Given the description of an element on the screen output the (x, y) to click on. 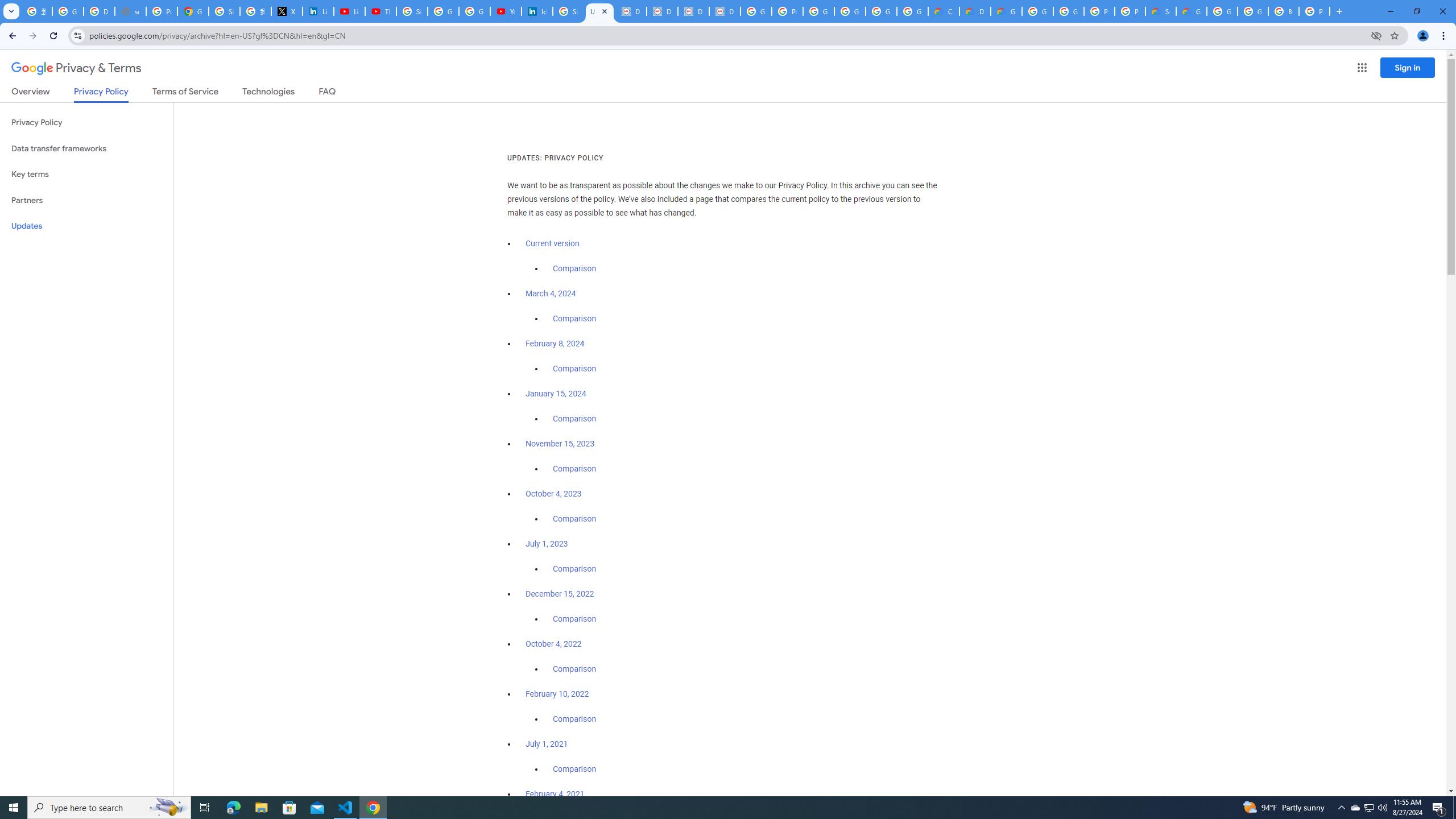
Data Privacy Framework (693, 11)
February 8, 2024 (555, 343)
LinkedIn Privacy Policy (318, 11)
Comparison (574, 768)
February 10, 2022 (557, 693)
Partners (86, 199)
Google Workspace - Specific Terms (881, 11)
